Given the description of an element on the screen output the (x, y) to click on. 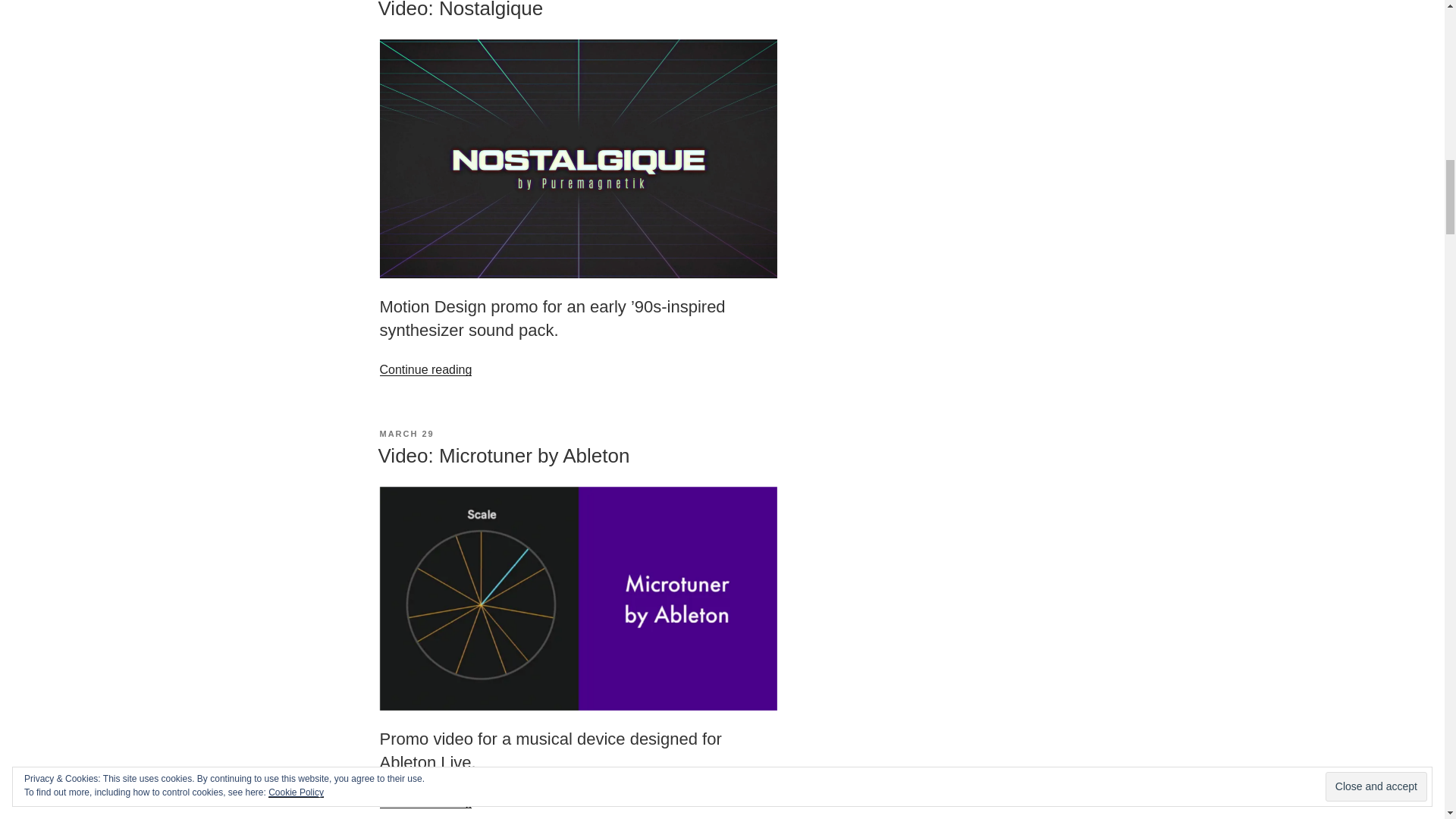
Video: Microtuner by Ableton (502, 455)
Video: Nostalgique (460, 9)
MARCH 29 (405, 433)
